Given the description of an element on the screen output the (x, y) to click on. 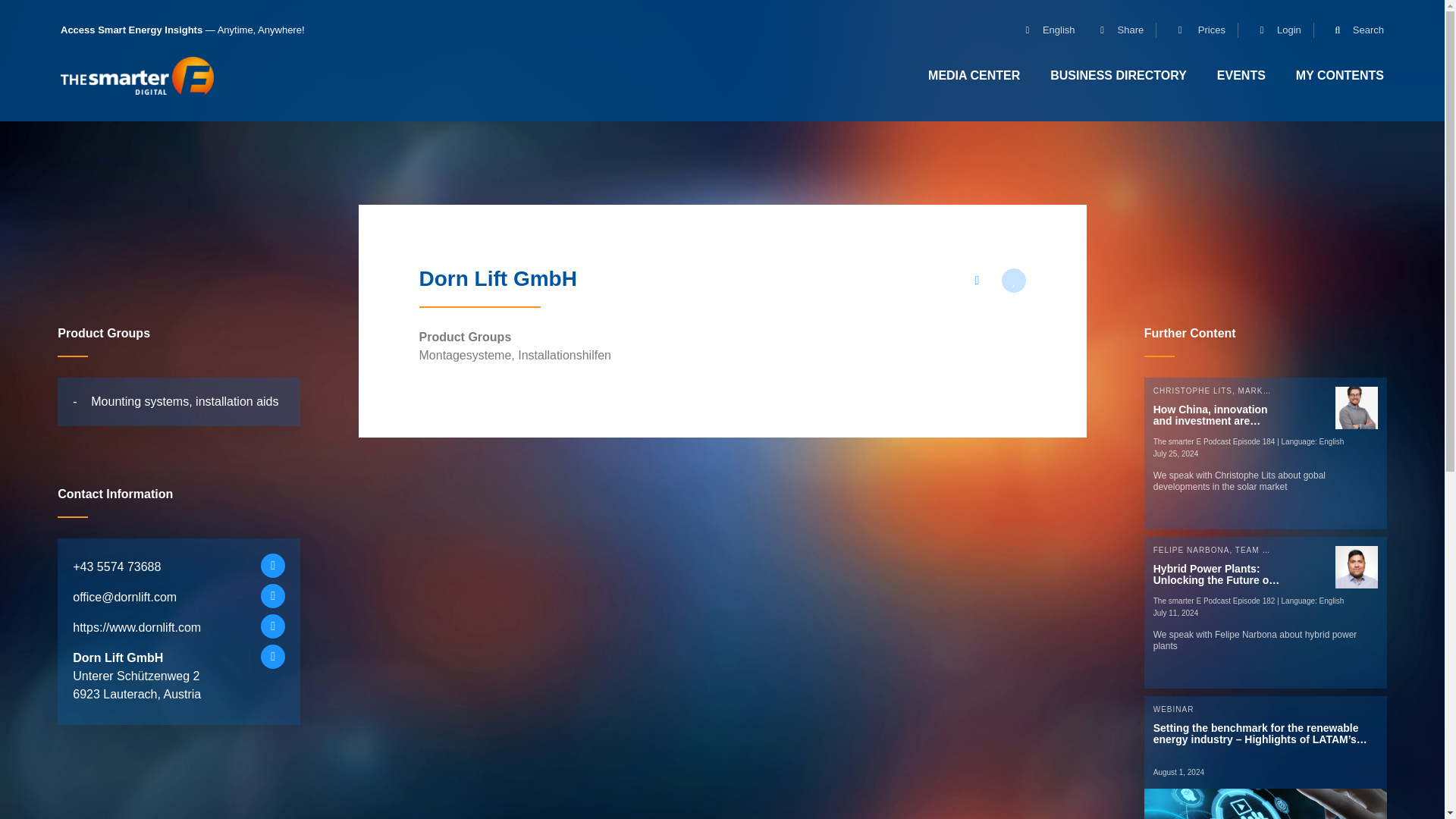
MY CONTENTS (1340, 75)
EVENTS (1241, 75)
Login (1273, 30)
Change Language (1043, 30)
Prices (1194, 30)
Login (1273, 30)
Prices (1194, 30)
MEDIA CENTER (973, 75)
Share this page (975, 280)
BUSINESS DIRECTORY (1118, 75)
Share (1115, 30)
Share (1115, 30)
Search (1353, 30)
Search (1353, 30)
English (1043, 30)
